Given the description of an element on the screen output the (x, y) to click on. 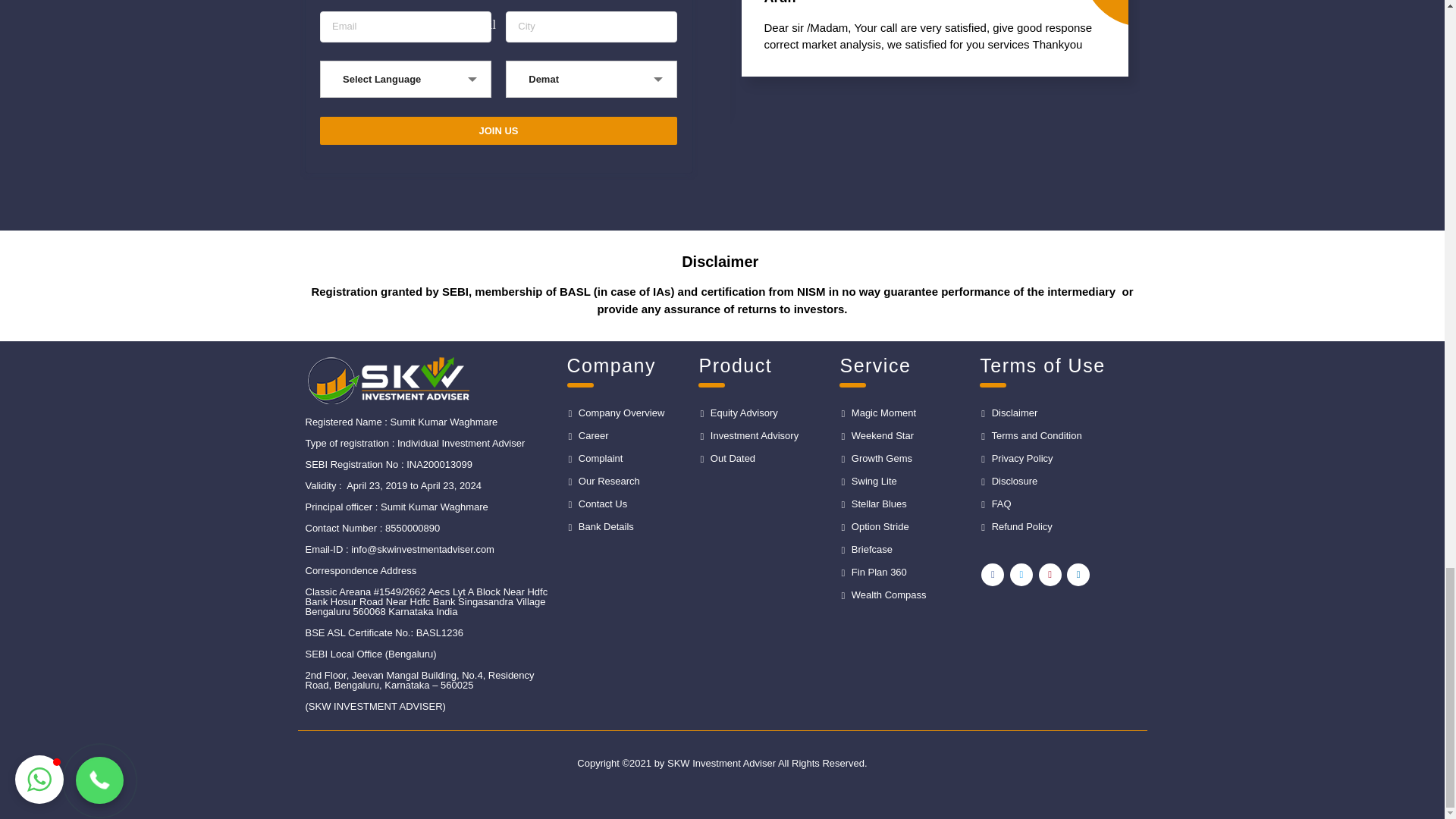
Select Language (405, 79)
Demat (591, 79)
